Given the description of an element on the screen output the (x, y) to click on. 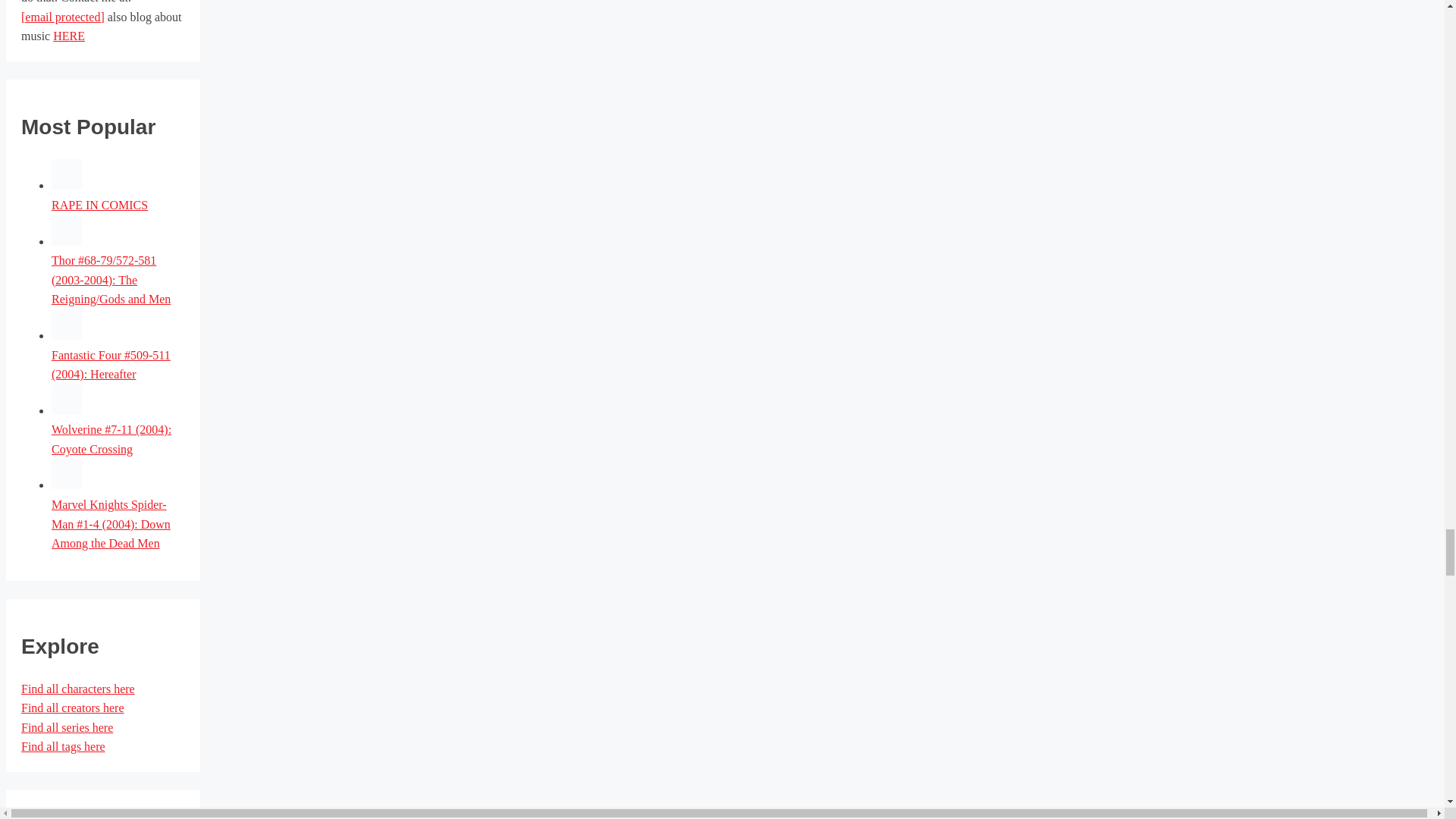
HERE (68, 35)
RAPE IN COMICS (65, 185)
RAPE IN COMICS (99, 205)
RAPE IN COMICS (99, 205)
Find all characters here (78, 688)
